Given the description of an element on the screen output the (x, y) to click on. 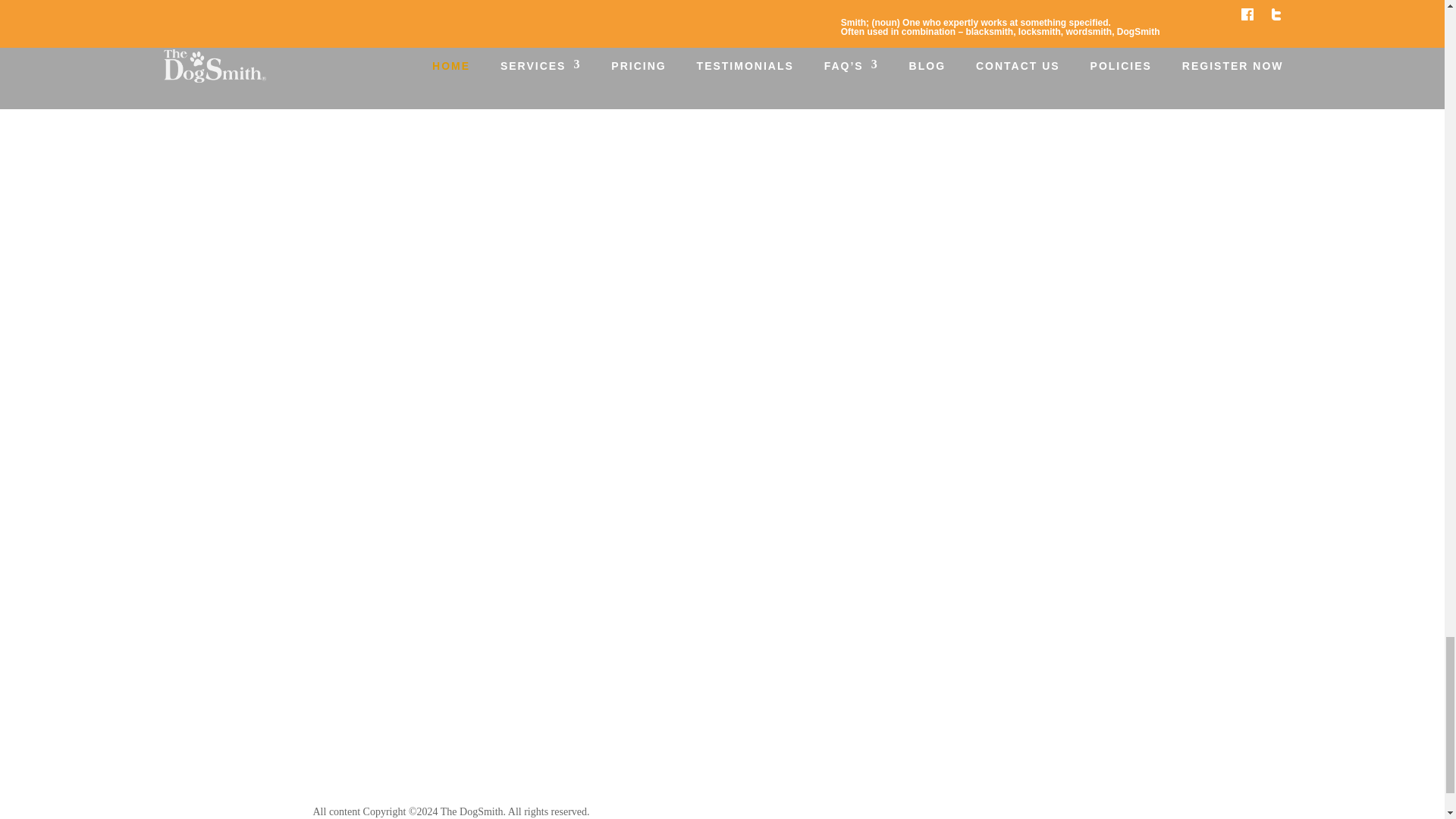
Follow on Youtube (1076, 810)
Home (325, 670)
Follow on X (1045, 810)
Follow on Facebook (1015, 810)
